Given the description of an element on the screen output the (x, y) to click on. 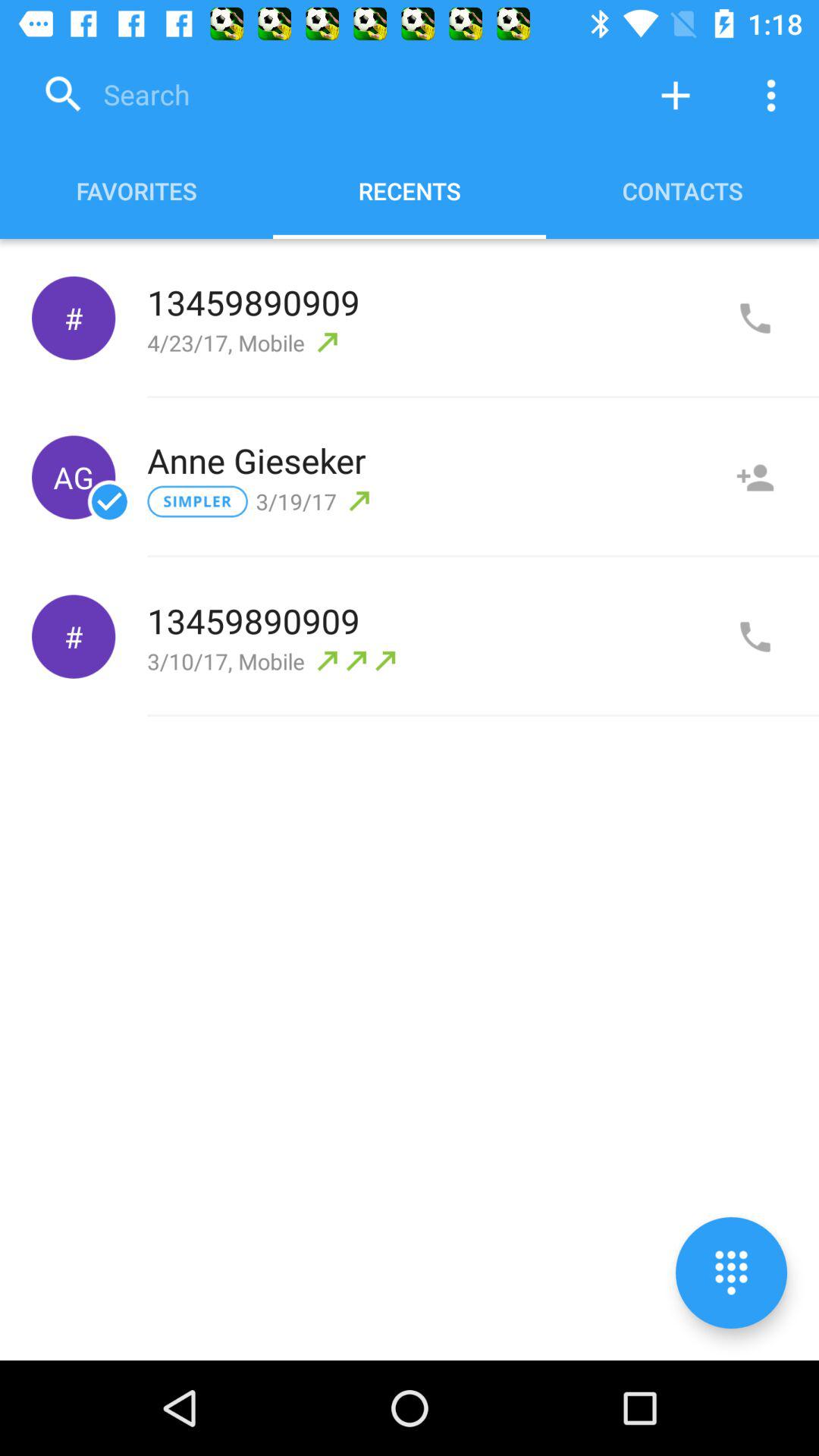
search (329, 95)
